Given the description of an element on the screen output the (x, y) to click on. 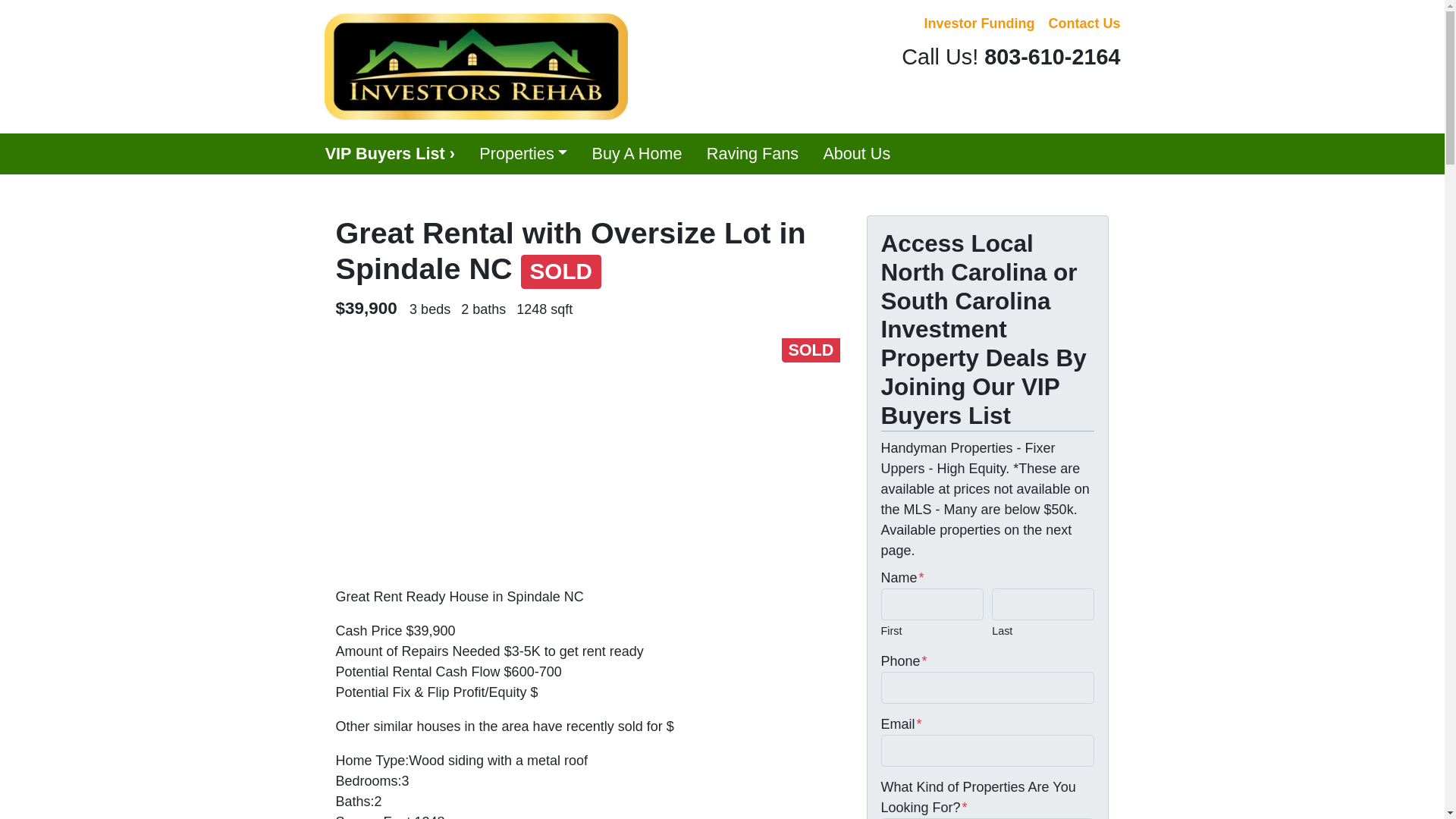
Investor Funding (979, 23)
Properties (523, 153)
Properties (523, 153)
About Us (856, 153)
About Us (856, 153)
Raving Fans (752, 153)
Raving Fans (752, 153)
Buy A Home (636, 153)
Contact Us (1083, 23)
Buy A Home (636, 153)
